Given the description of an element on the screen output the (x, y) to click on. 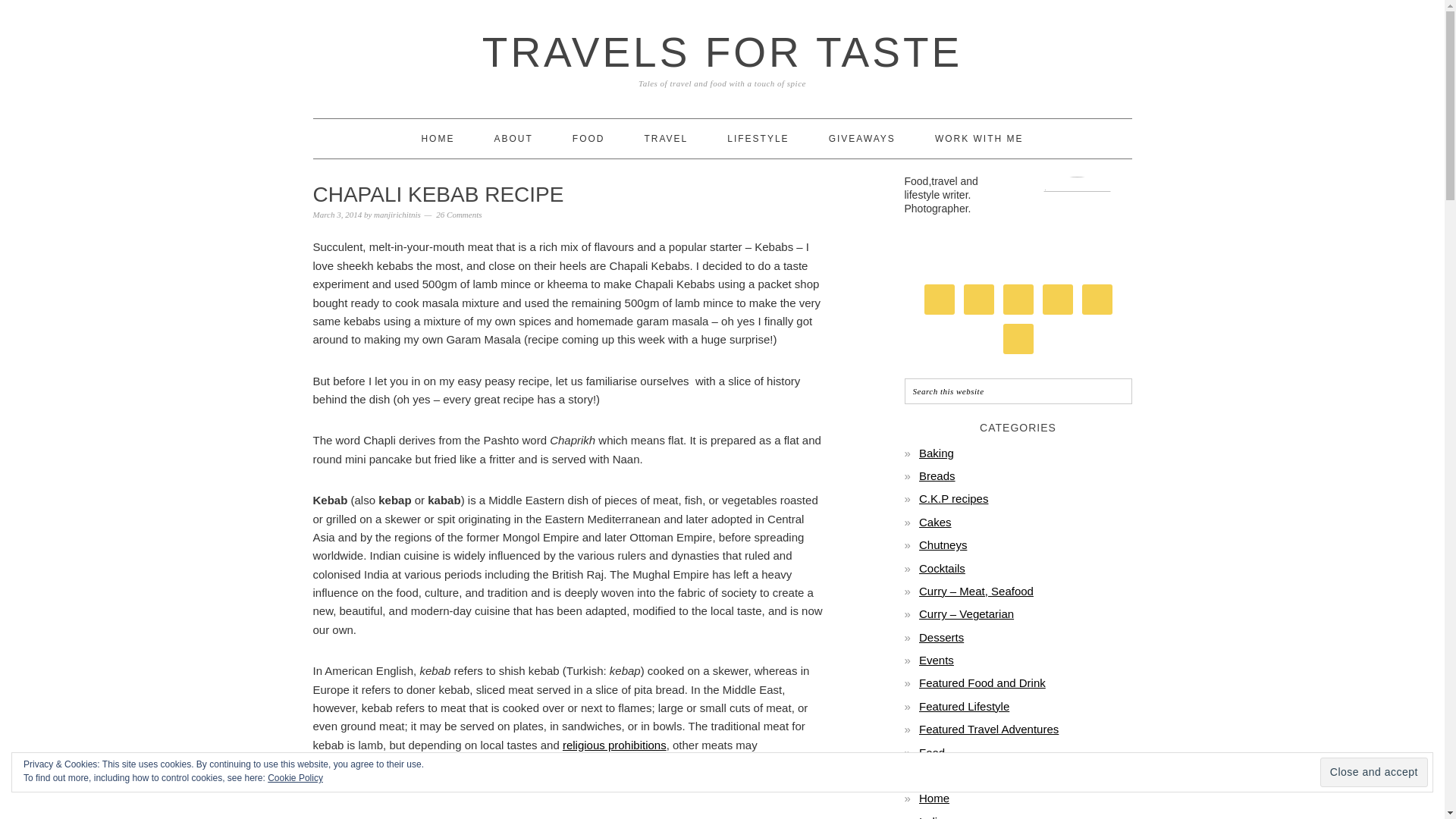
GIVEAWAYS (861, 138)
WORK WITH ME (978, 138)
Taboo food and drink (614, 744)
CHAPALI KEBAB RECIPE (438, 194)
TRAVELS FOR TASTE (721, 52)
FOOD (588, 138)
LIFESTYLE (757, 138)
manjirichitnis (397, 214)
Close and accept (1374, 772)
ABOUT (512, 138)
TRAVEL (665, 138)
HOME (437, 138)
